Given the description of an element on the screen output the (x, y) to click on. 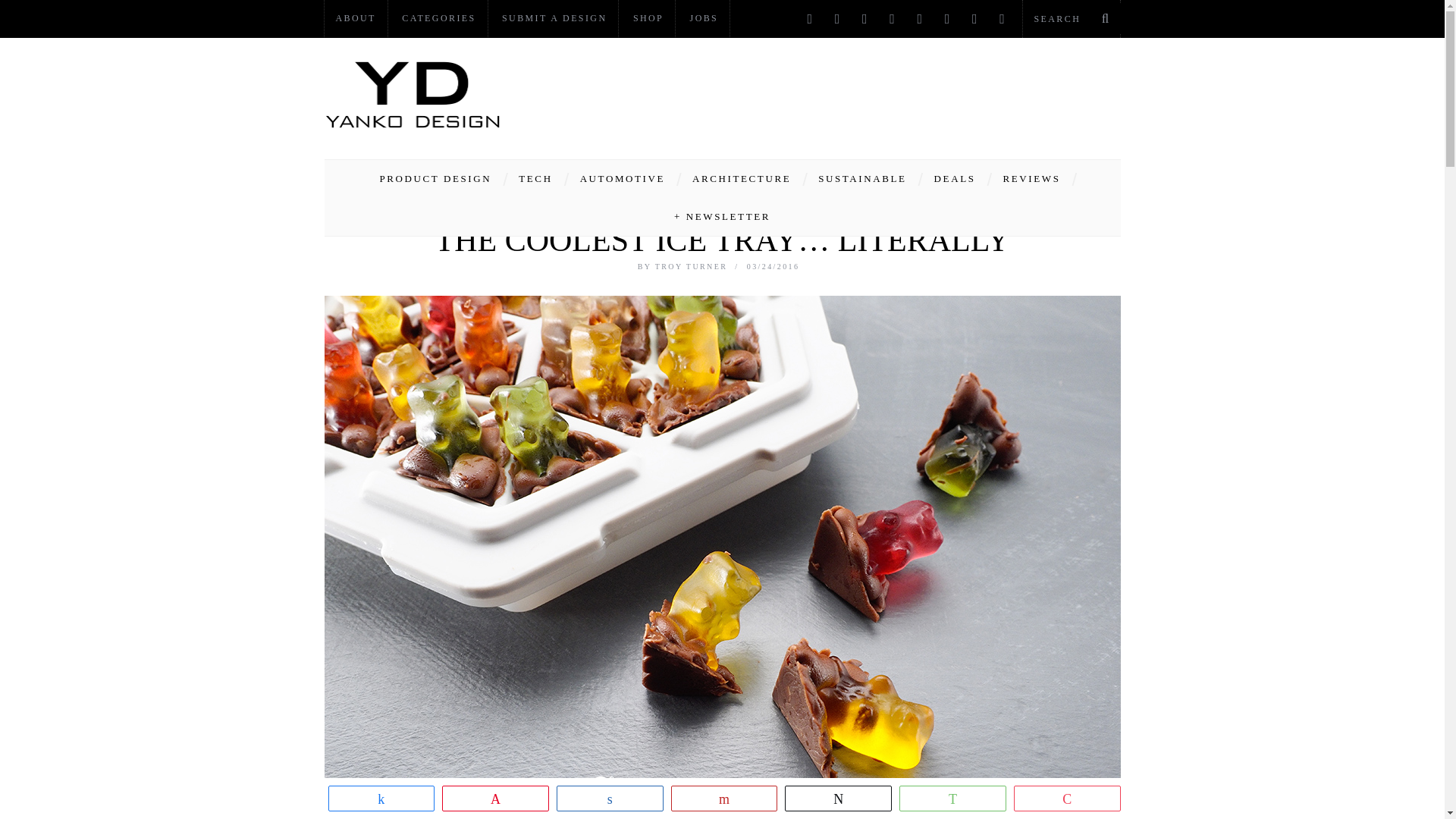
Advertisement (845, 94)
Search (1071, 18)
